Given the description of an element on the screen output the (x, y) to click on. 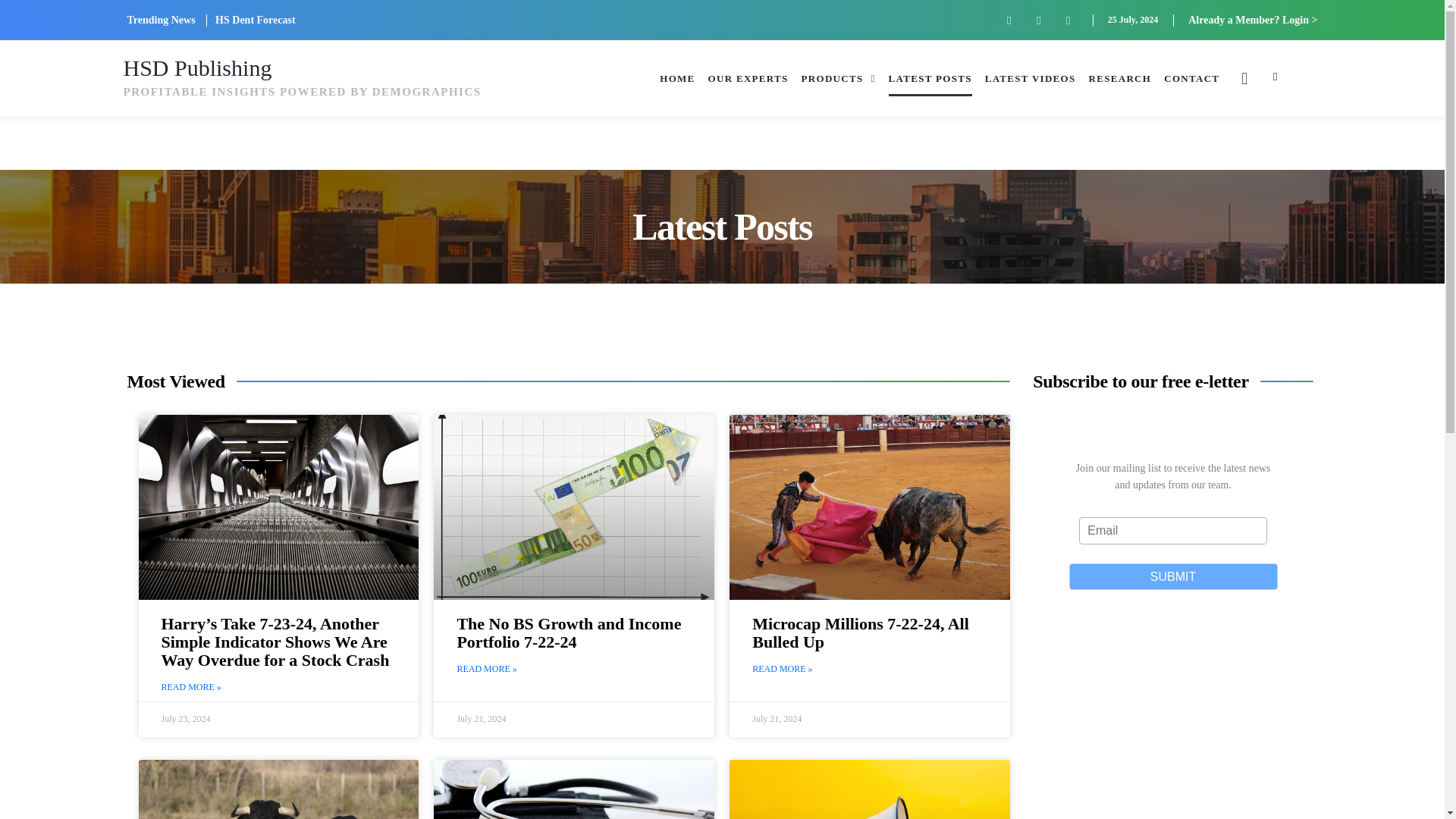
LATEST VIDEOS (1030, 77)
HS Dent Forecast (255, 19)
HSD Publishing (196, 67)
HOME (676, 77)
RESEARCH (1120, 77)
LATEST POSTS (930, 77)
CONTACT (1191, 77)
PRODUCTS (839, 77)
OUR EXPERTS (748, 77)
